Given the description of an element on the screen output the (x, y) to click on. 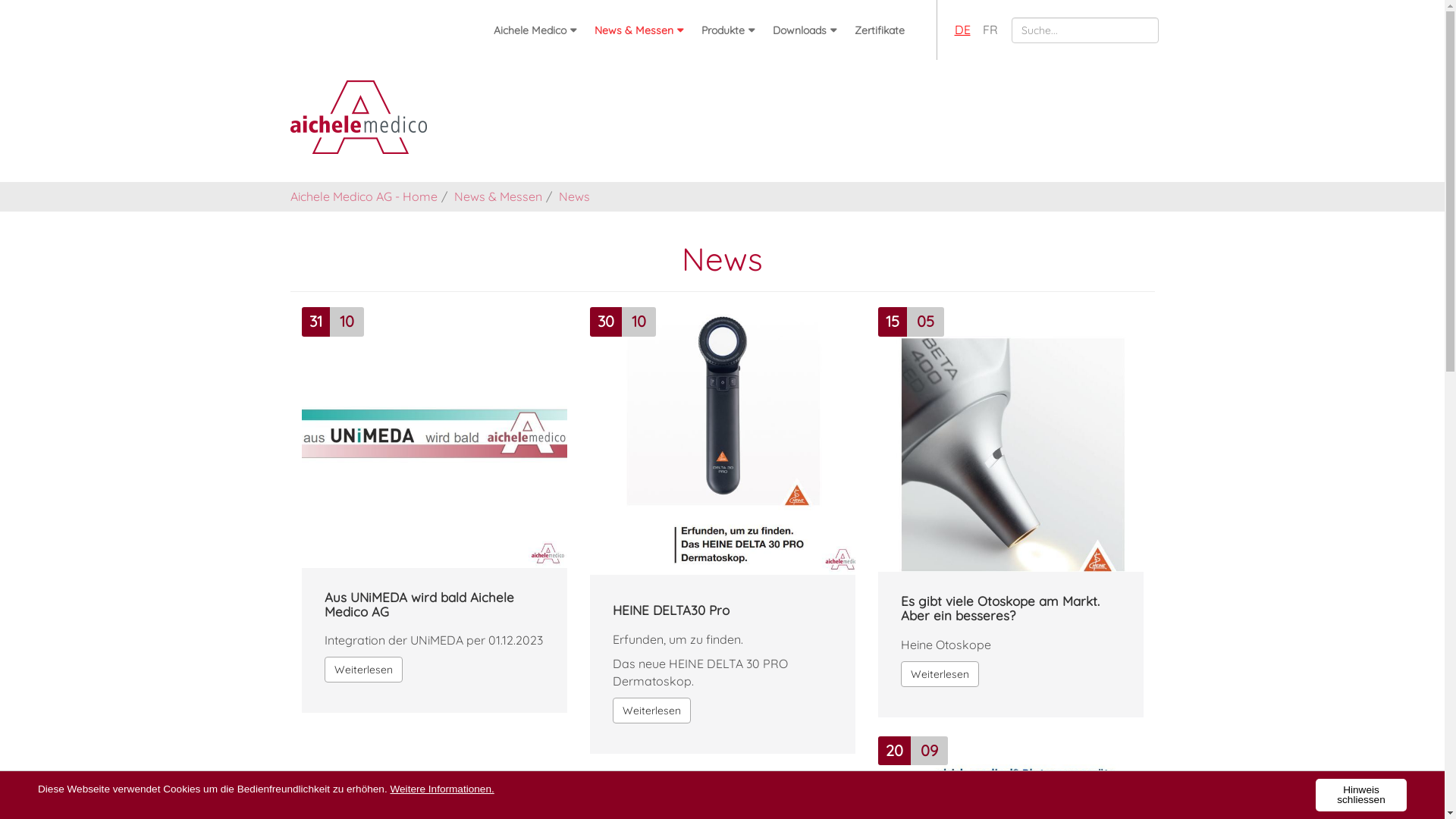
Produkte Element type: text (726, 30)
DE Element type: text (961, 29)
News Element type: text (573, 195)
FR Element type: text (990, 29)
Aichele Medico AG - Home Element type: text (362, 195)
News & Messen Element type: text (638, 30)
Weiterlesen Element type: text (651, 710)
Downloads Element type: text (803, 30)
Weiterlesen Element type: text (939, 674)
Hinweis schliessen Element type: text (1360, 794)
Weiterlesen Element type: text (363, 669)
HEINE DELTA30 Pro Element type: text (670, 610)
News & Messen Element type: text (497, 195)
Weitere Informationen. Element type: text (441, 788)
Aus UNiMEDA wird bald Aichele Medico AG Element type: text (434, 604)
Es gibt viele Otoskope am Markt. Aber ein besseres? Element type: text (1010, 608)
Aichele Medico Element type: text (533, 30)
Zertifikate Element type: text (878, 30)
